Given the description of an element on the screen output the (x, y) to click on. 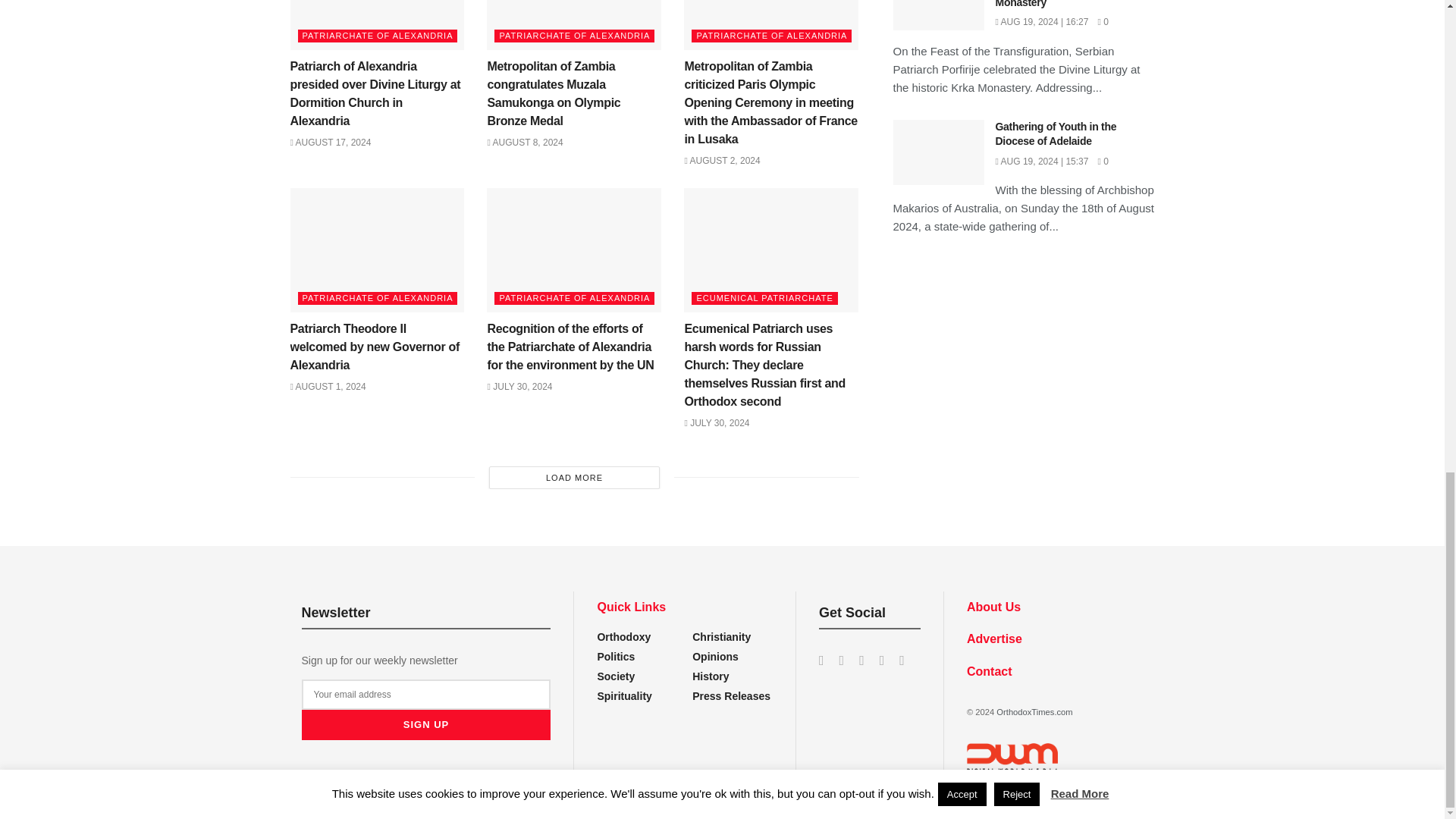
You can add some category description here. (731, 695)
Sign up (426, 725)
OrthodoxTimes.com (1033, 711)
You can add some category description here. (711, 676)
